Given the description of an element on the screen output the (x, y) to click on. 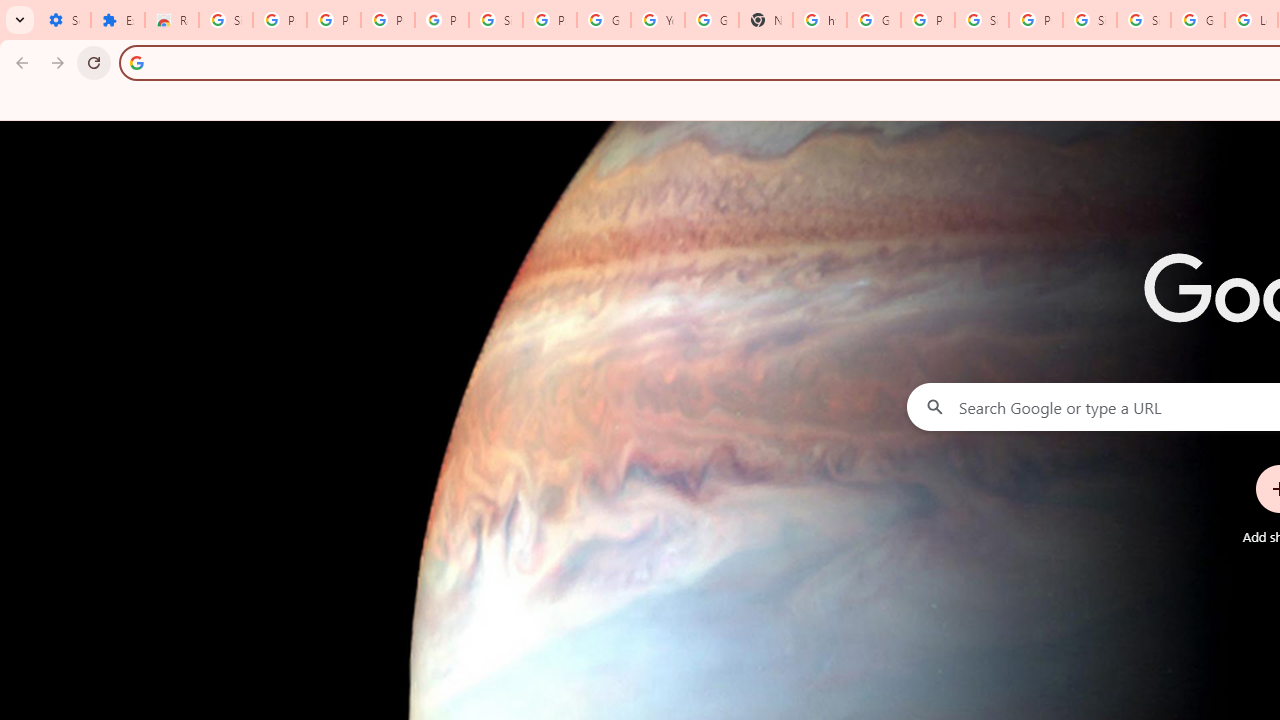
Reviews: Helix Fruit Jump Arcade Game (171, 20)
Sign in - Google Accounts (1089, 20)
https://scholar.google.com/ (819, 20)
Sign in - Google Accounts (225, 20)
